Given the description of an element on the screen output the (x, y) to click on. 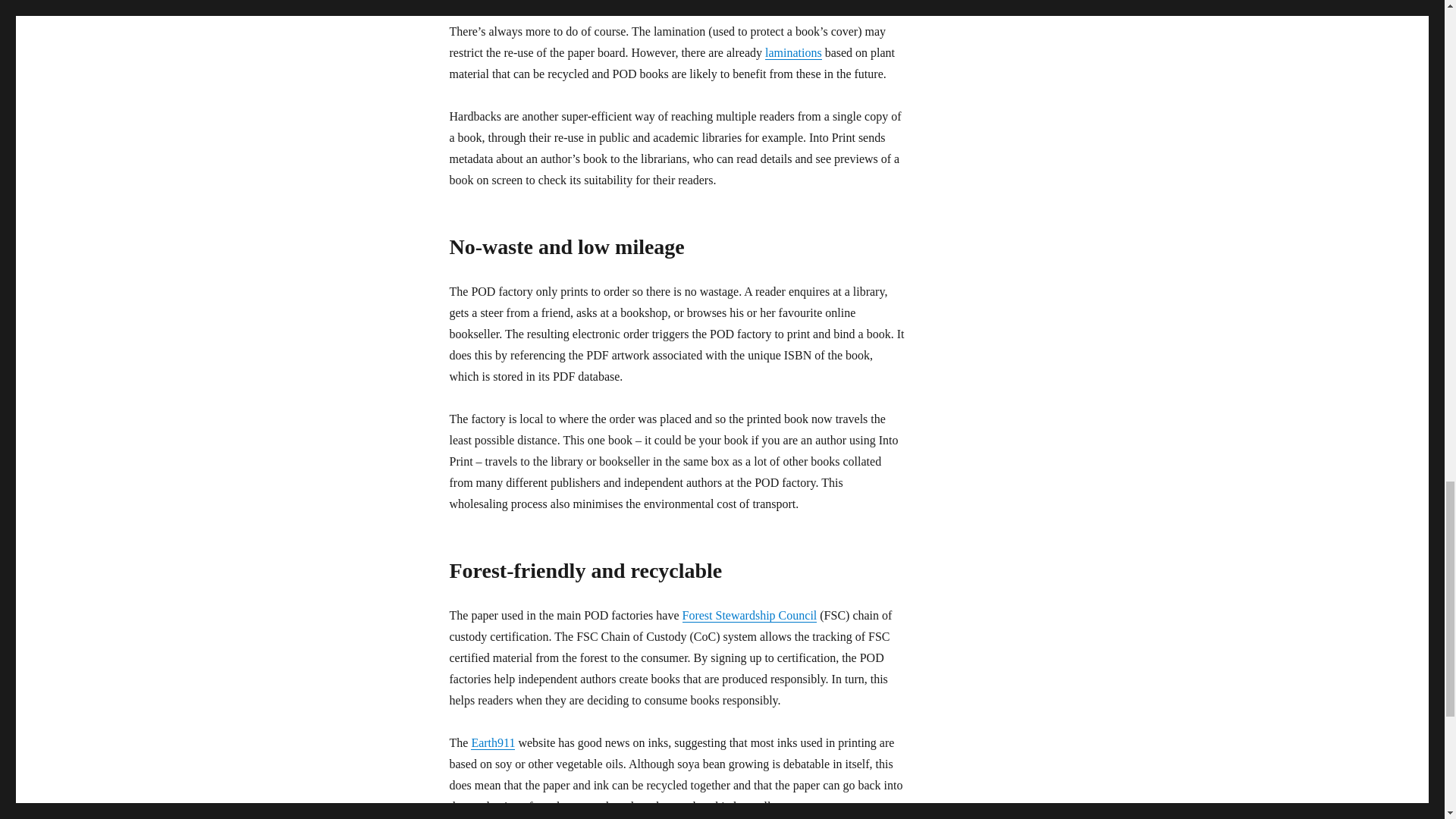
Forest Stewardship Council (749, 615)
Earth911 (492, 742)
laminations (793, 51)
